Given the description of an element on the screen output the (x, y) to click on. 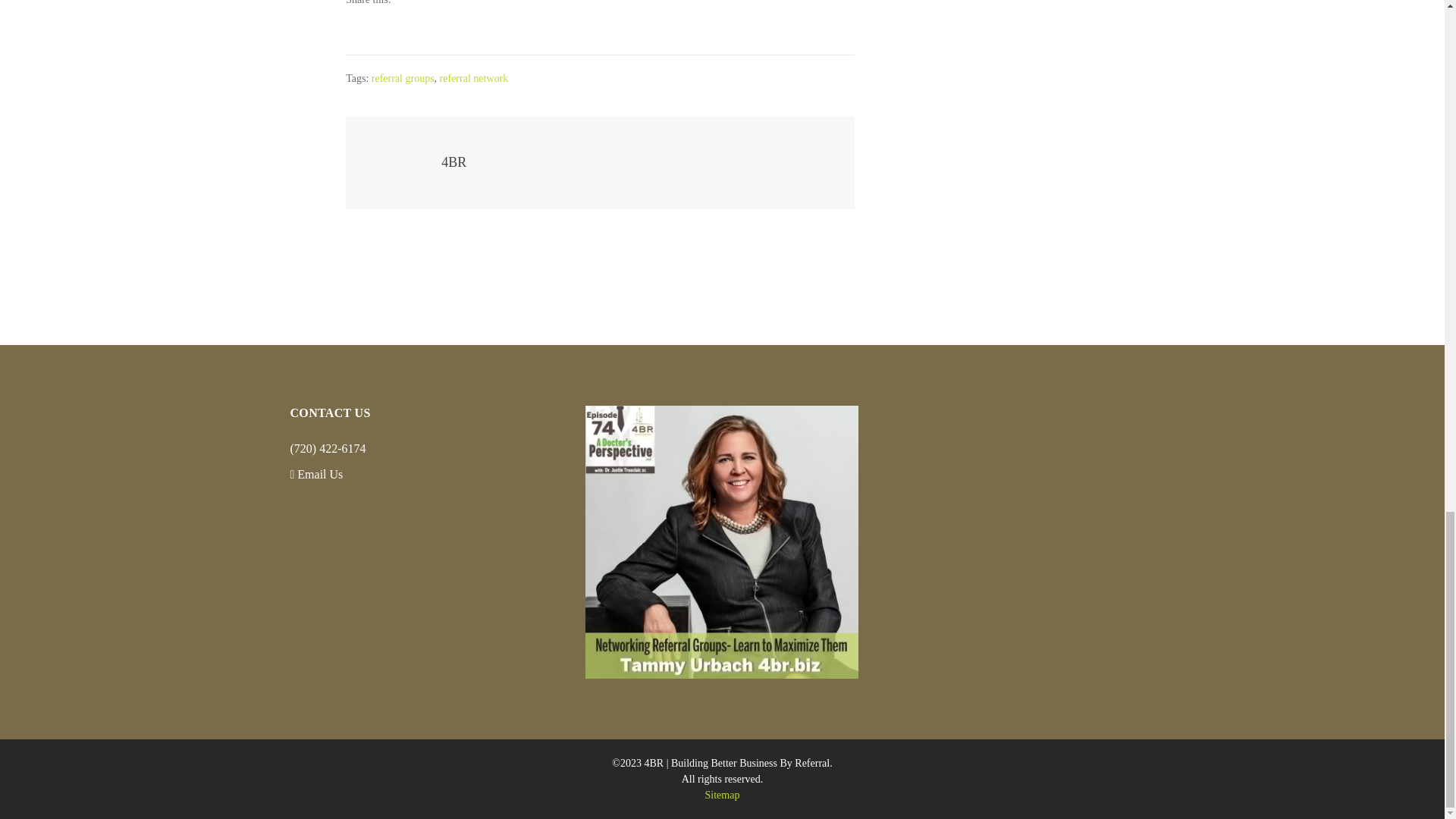
4br (722, 541)
referral network (473, 78)
referral groups (402, 78)
